Given the description of an element on the screen output the (x, y) to click on. 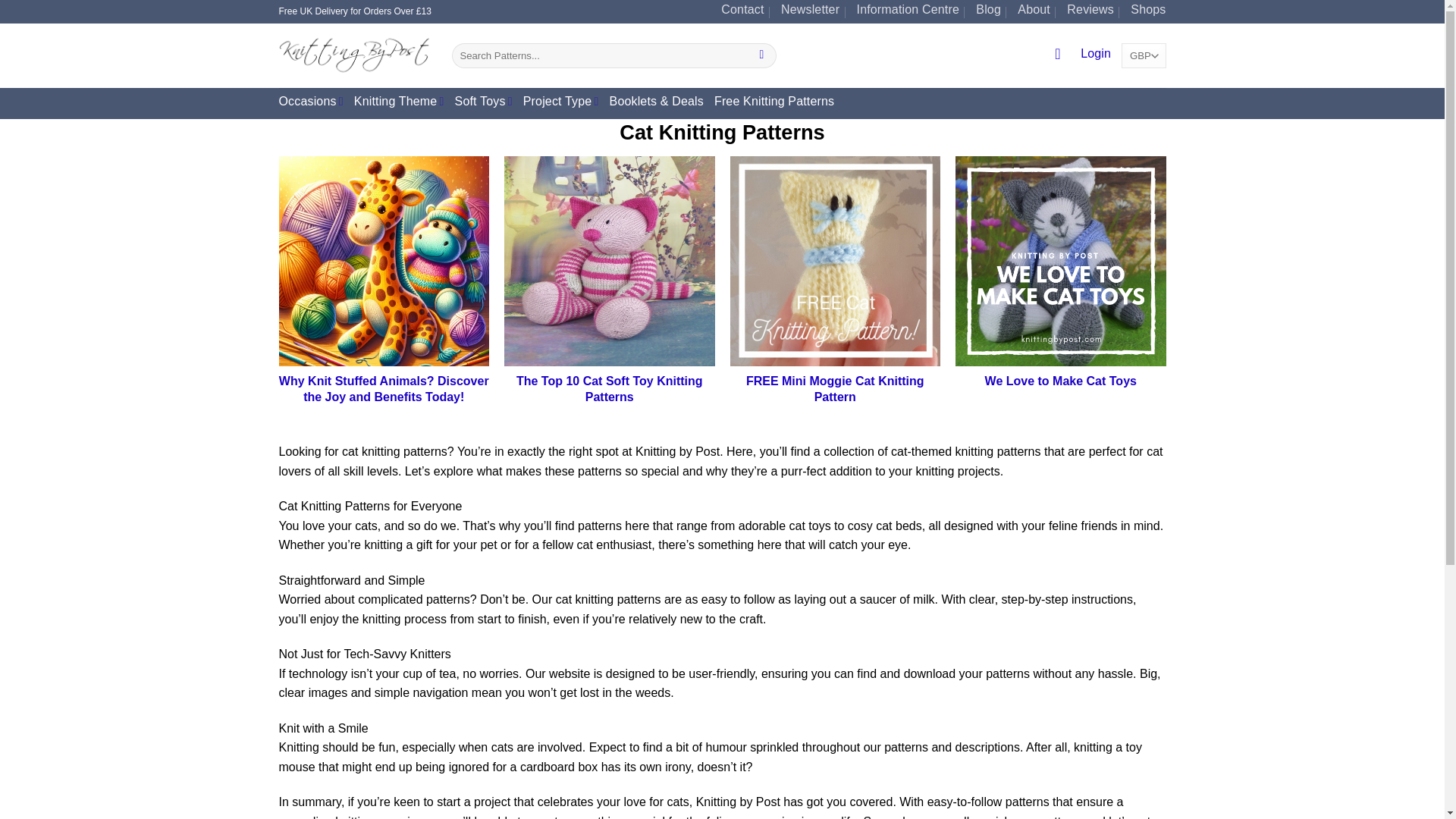
Login (1095, 55)
Blog (988, 11)
Free cat knitting pattern (834, 261)
Search (761, 55)
Useful information for using this website (908, 11)
Login (1095, 55)
Information Centre (908, 11)
Shops (1148, 11)
Reviews (1090, 11)
